Given the description of an element on the screen output the (x, y) to click on. 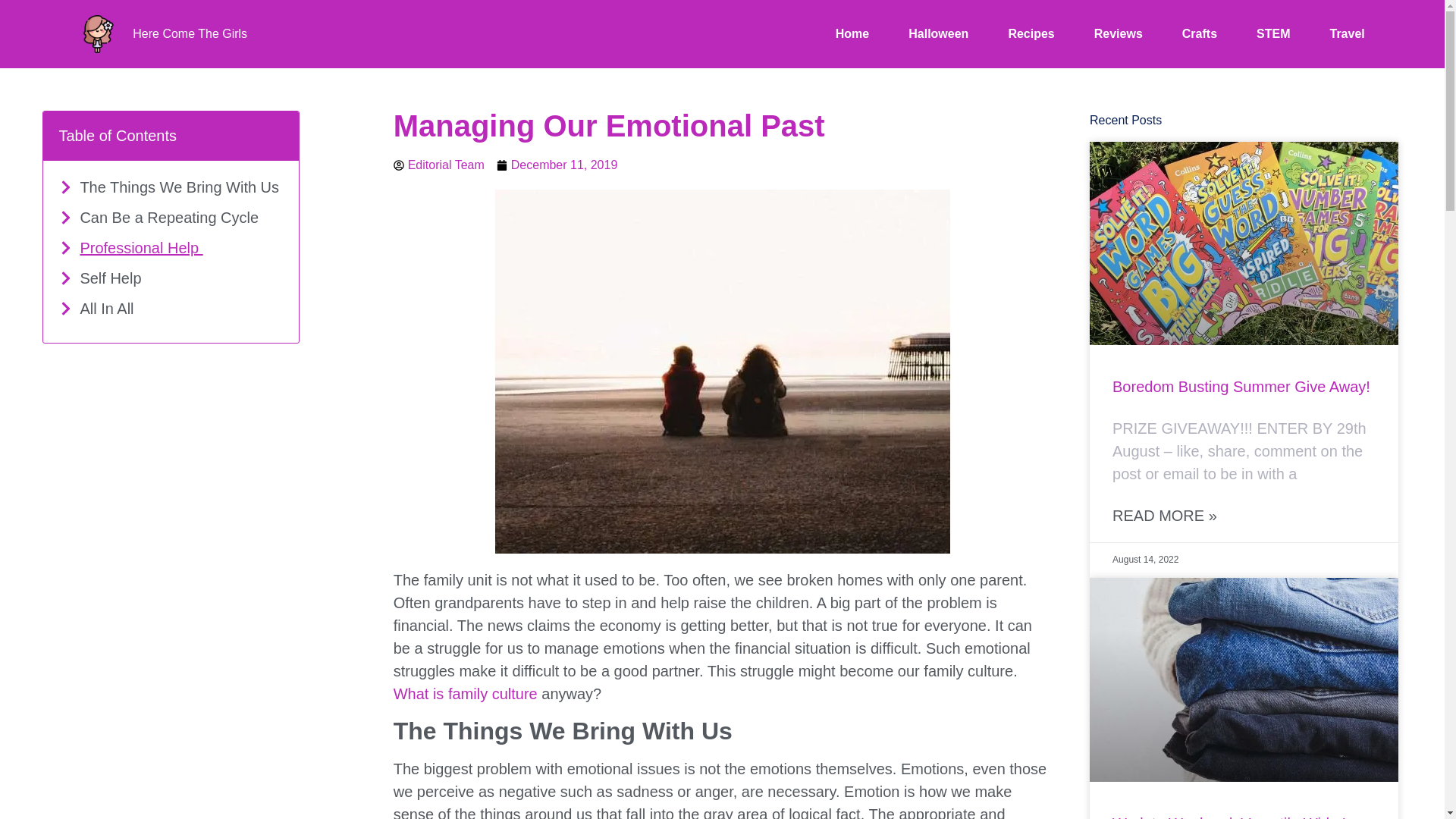
December 11, 2019 (556, 165)
Can Be a Repeating Cycle  (171, 217)
Halloween (938, 34)
Professional Help  (141, 247)
Recipes (1030, 34)
Crafts (1199, 34)
Here Come The Girls (189, 33)
All In All  (109, 308)
STEM (1273, 34)
Editorial Team (438, 165)
The Things We Bring With Us  (181, 187)
Reviews (1118, 34)
Self Help  (112, 277)
Home (852, 34)
Travel (1346, 34)
